Given the description of an element on the screen output the (x, y) to click on. 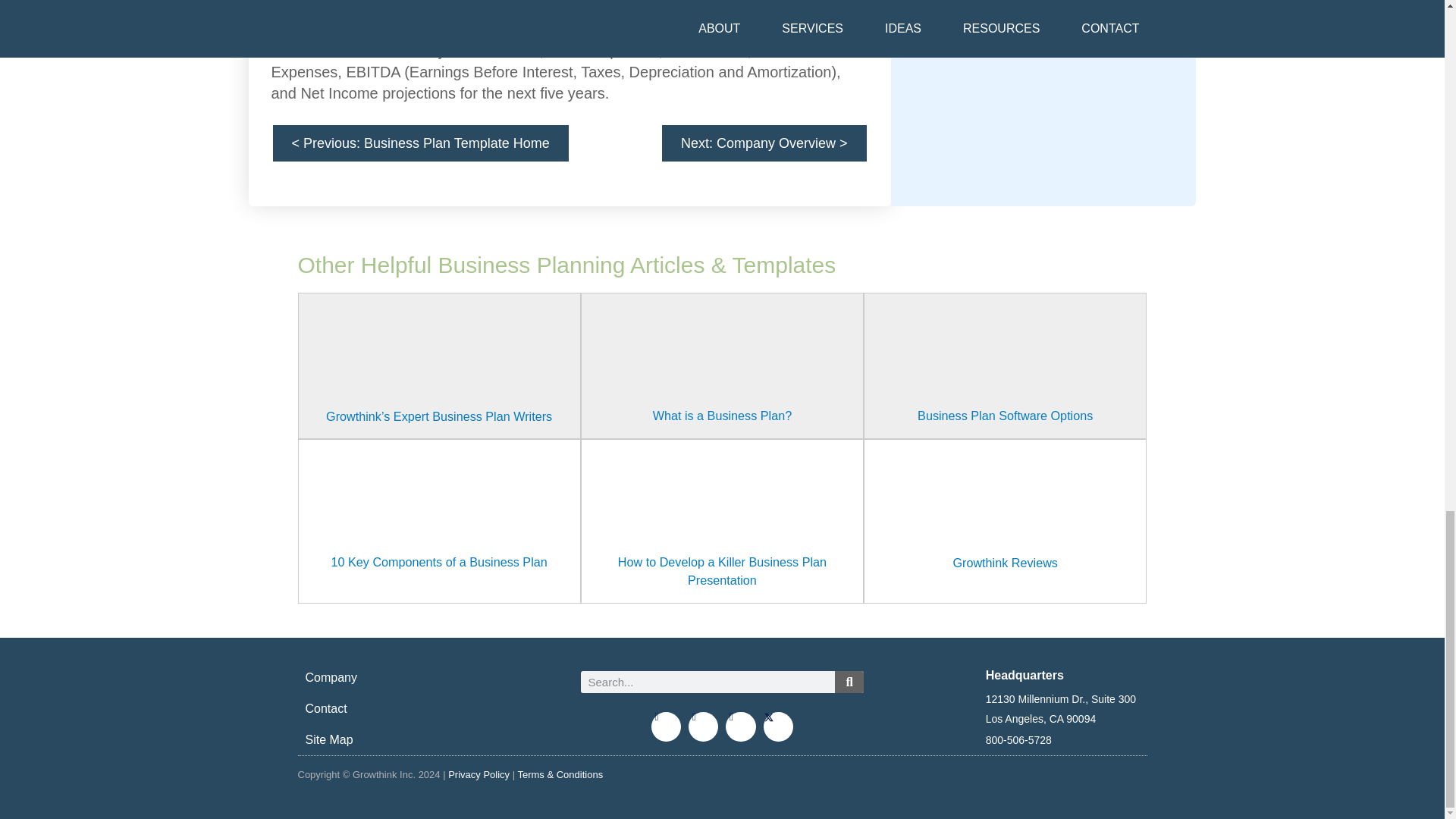
20 Reasons Why a Business Plan is Important (722, 365)
How to Develop a Killer Business Plan Presentation (722, 520)
10 Crucial Elements of a Business Plan (438, 511)
Growthink's Expert Business Plan Writers (438, 365)
Growthink Reviews (1004, 511)
Review of the Best Business Plan Software (1004, 365)
